Given the description of an element on the screen output the (x, y) to click on. 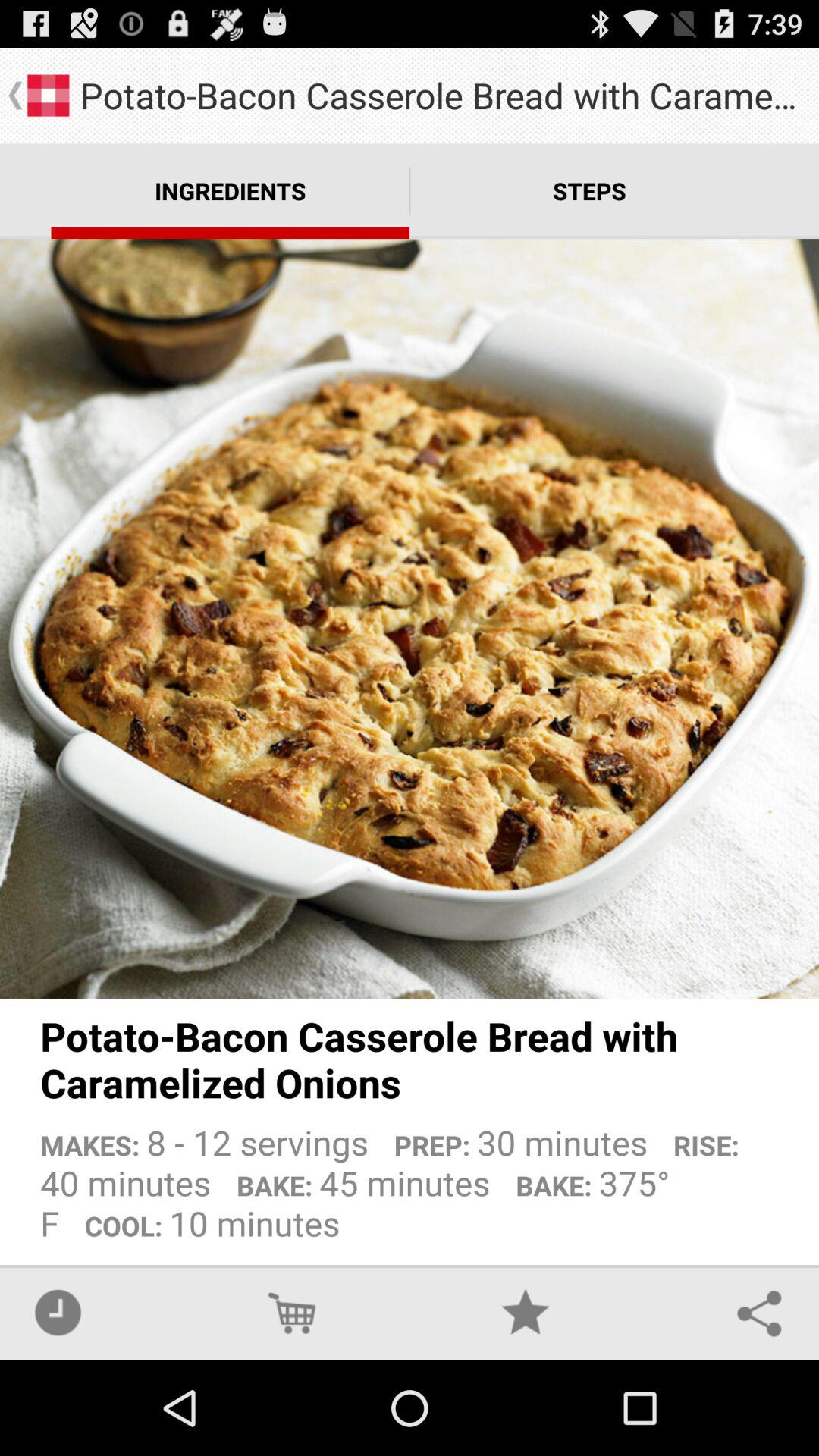
scroll until the makes 8 12 item (409, 1177)
